Given the description of an element on the screen output the (x, y) to click on. 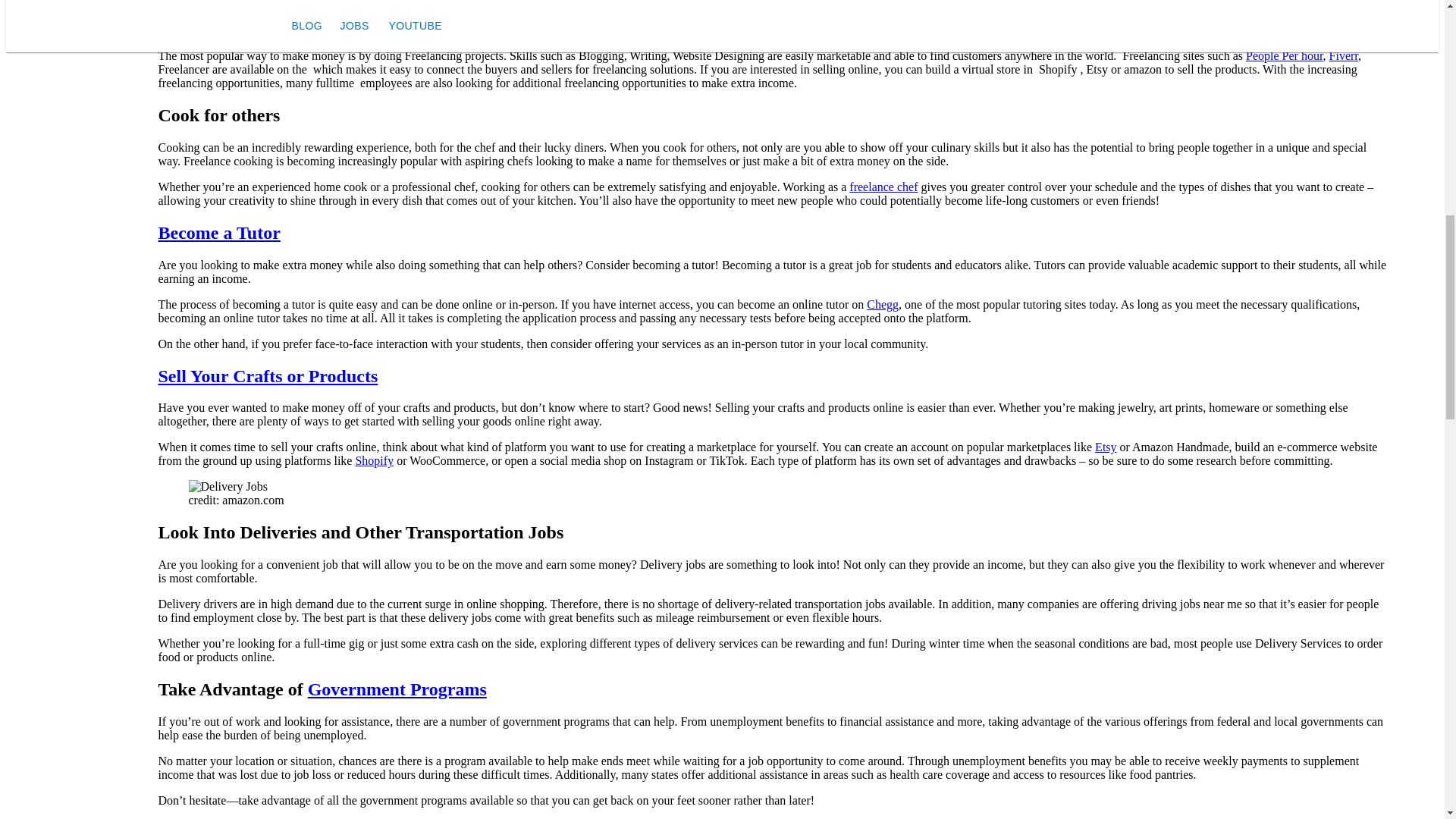
Chegg (882, 304)
freelance chef (882, 186)
Become a Tutor (218, 232)
Sell Your Crafts or Products (267, 375)
Fiverr (1343, 55)
Etsy (1105, 446)
People Per hour (1284, 55)
Shopify (374, 460)
Government Programs (396, 689)
